Given the description of an element on the screen output the (x, y) to click on. 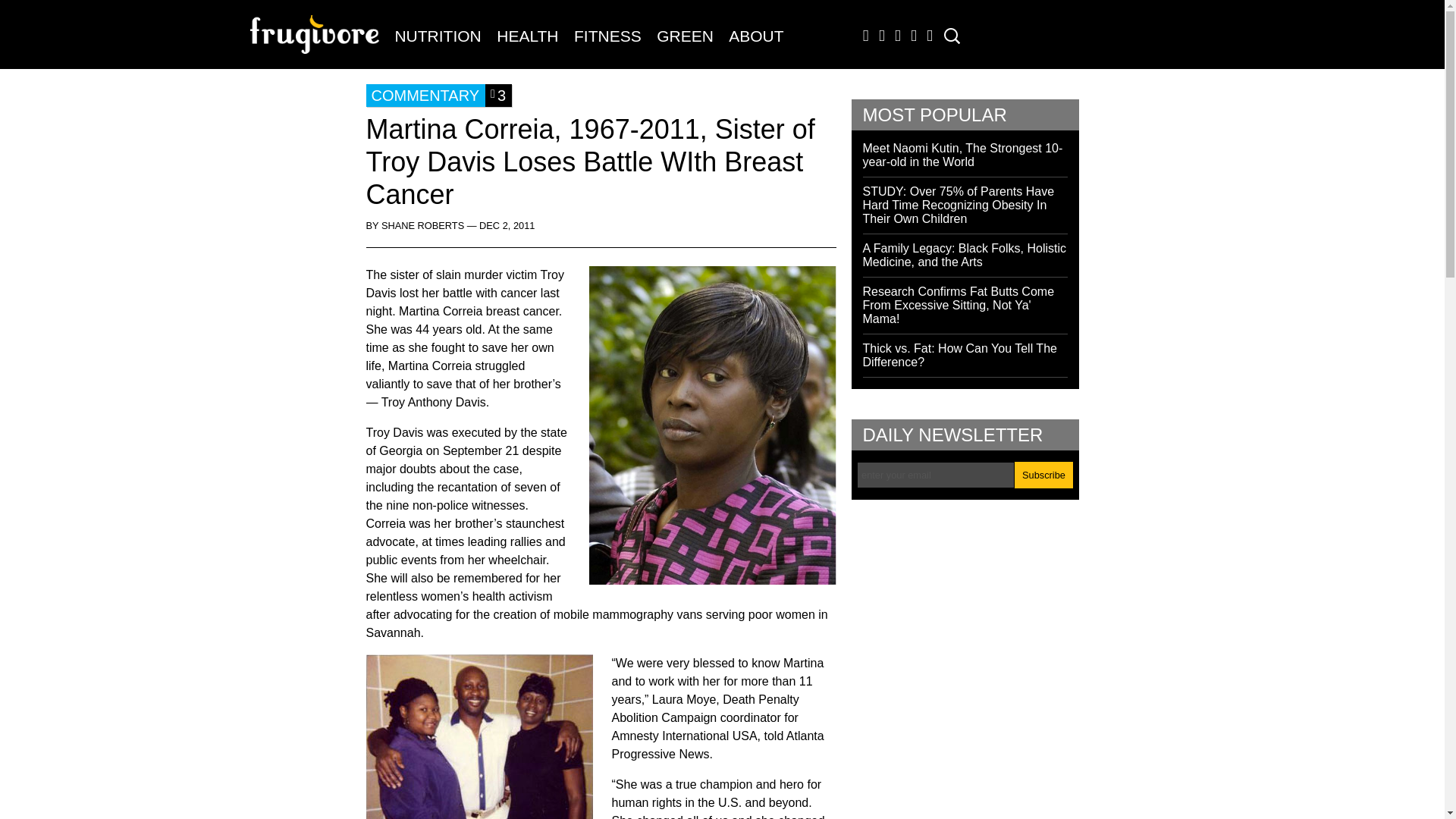
Martina Correia, Troy Davis (478, 736)
Twitter (878, 38)
FRUGIVORE (317, 42)
SHANE ROBERTS (422, 225)
Posts by Shane Roberts (422, 225)
Facebook (862, 38)
NUTRITION (437, 36)
GREEN (684, 36)
COMMENTARY (424, 95)
enter your email (935, 474)
Pinterest (926, 38)
Frugivore (317, 42)
